Given the description of an element on the screen output the (x, y) to click on. 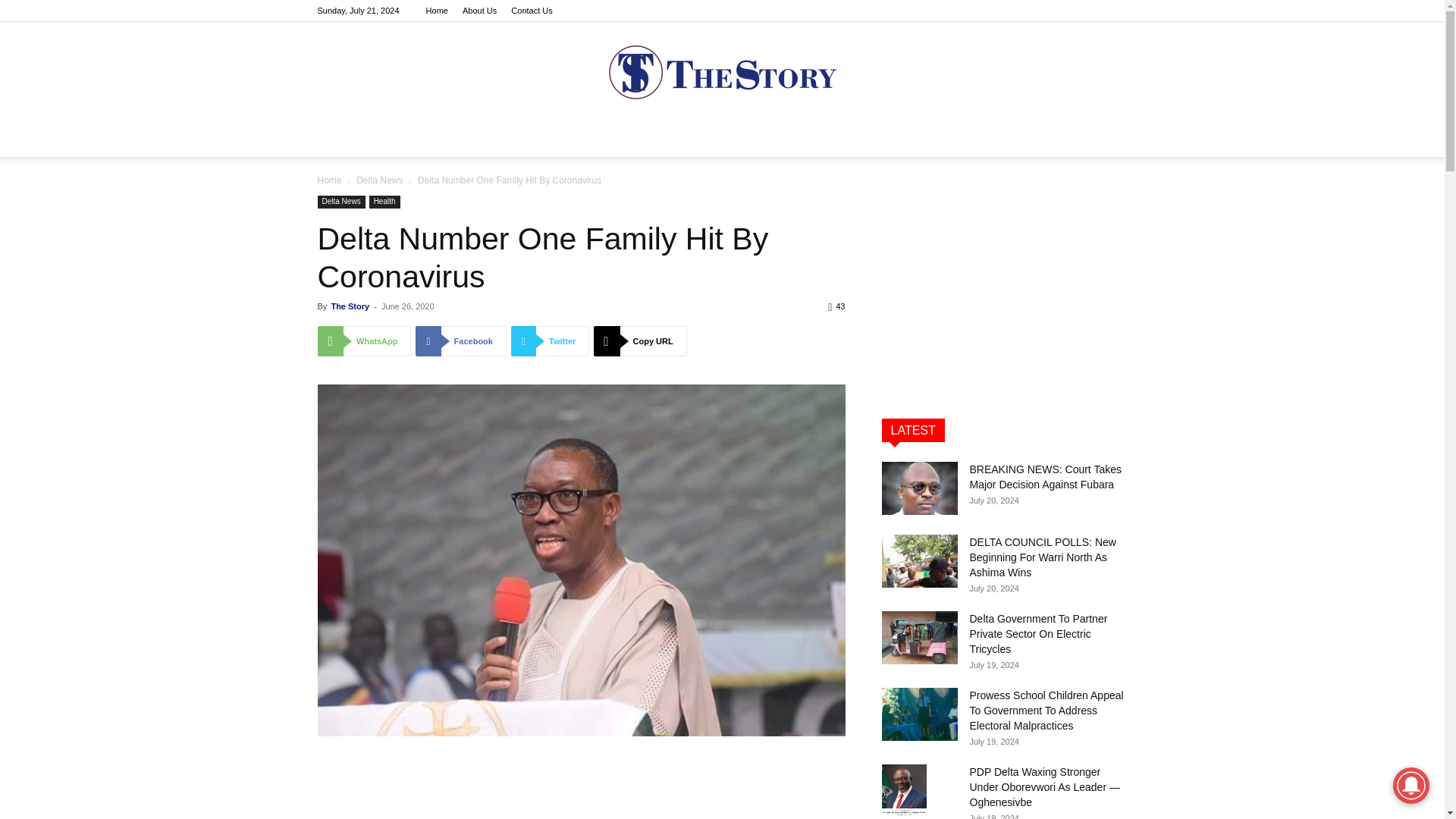
CRIME (637, 138)
About Us (479, 10)
Home (328, 180)
View all posts in Delta News (379, 180)
The Story (349, 306)
EDUCATION (844, 138)
POLITICS (574, 138)
NATIONAL NEWS (478, 138)
HEALTH (697, 138)
Home (437, 10)
BUSINESS (767, 138)
HOME (390, 138)
Facebook (459, 340)
Delta News (379, 180)
WhatsApp (363, 340)
